Given the description of an element on the screen output the (x, y) to click on. 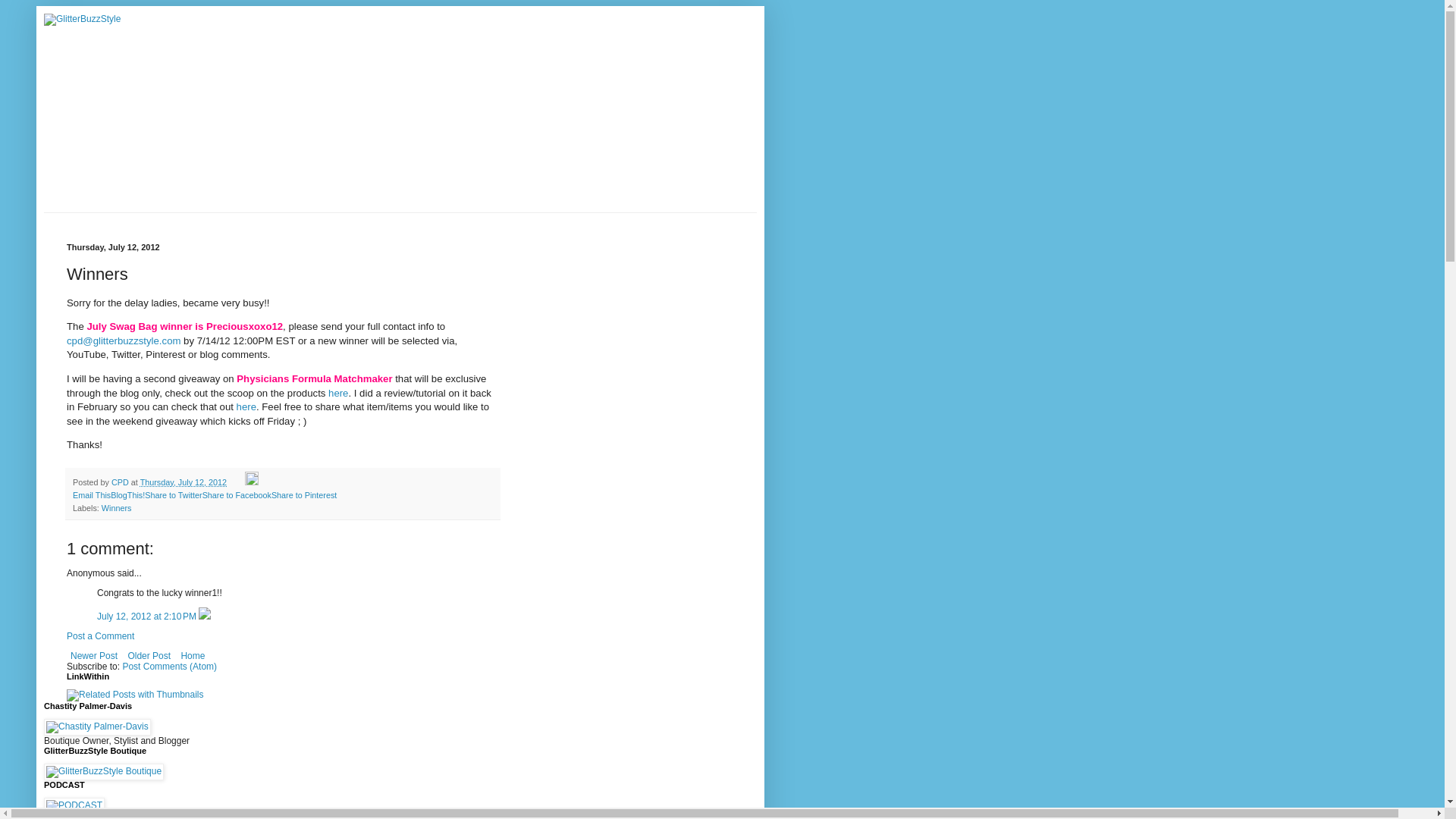
CPD (121, 481)
Newer Post (93, 656)
here (245, 406)
Share to Pinterest (303, 494)
Edit Post (251, 481)
Thursday, July 12, 2012 (183, 481)
Share to Facebook (236, 494)
author profile (121, 481)
Delete Comment (204, 615)
Email This (91, 494)
Email This (91, 494)
Email Post (236, 481)
Older Post (148, 656)
Share to Pinterest (303, 494)
